Given the description of an element on the screen output the (x, y) to click on. 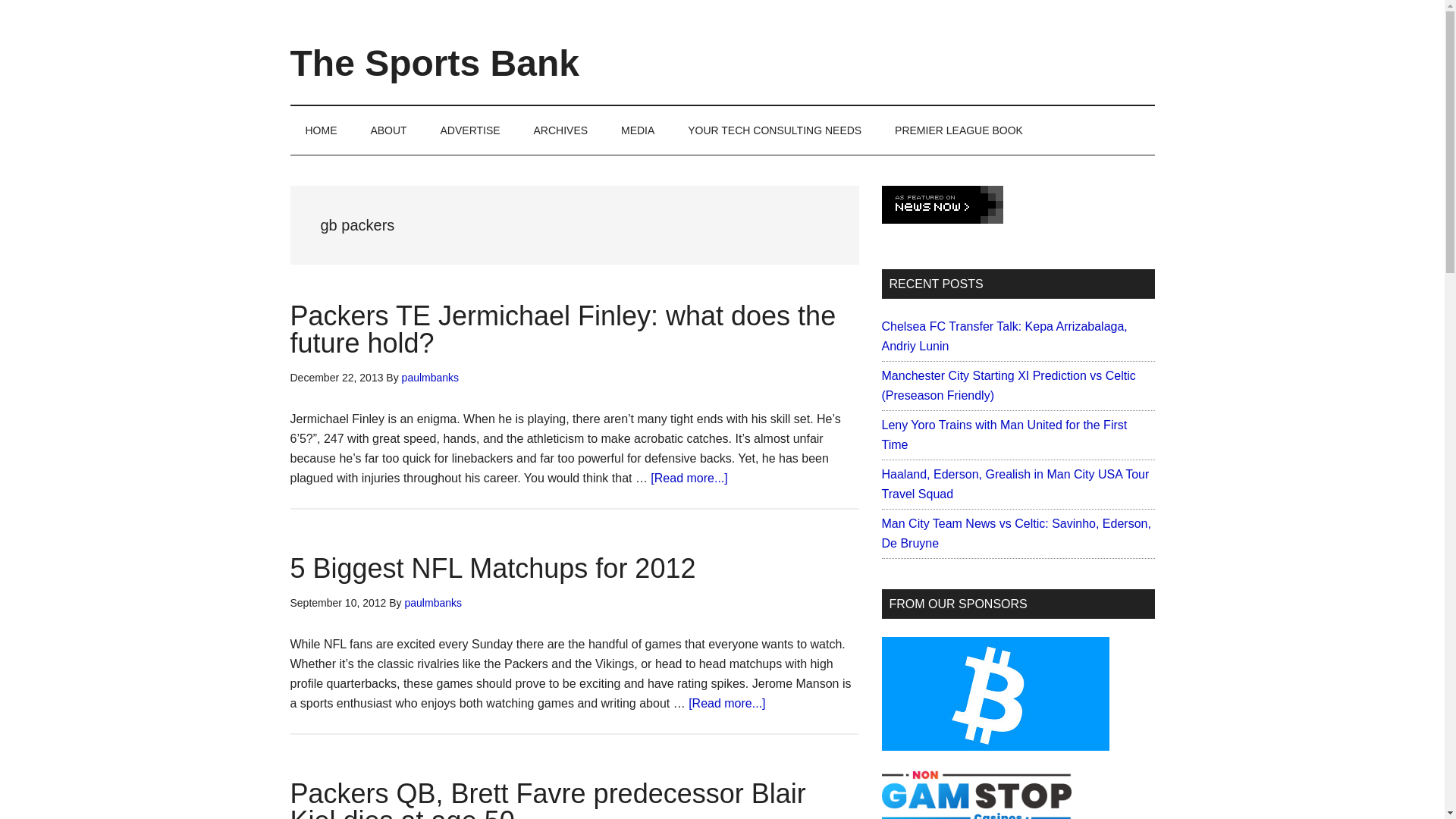
MEDIA (637, 130)
HOME (320, 130)
paulmbanks (430, 377)
ABOUT (388, 130)
ARCHIVES (561, 130)
Packers TE Jermichael Finley: what does the future hold? (562, 329)
PREMIER LEAGUE BOOK (958, 130)
The Sports Bank (433, 63)
Chelsea FC Transfer Talk: Kepa Arrizabalaga, Andriy Lunin (1003, 336)
paulmbanks (433, 603)
ADVERTISE (470, 130)
YOUR TECH CONSULTING NEEDS (774, 130)
5 Biggest NFL Matchups for 2012 (492, 567)
